Given the description of an element on the screen output the (x, y) to click on. 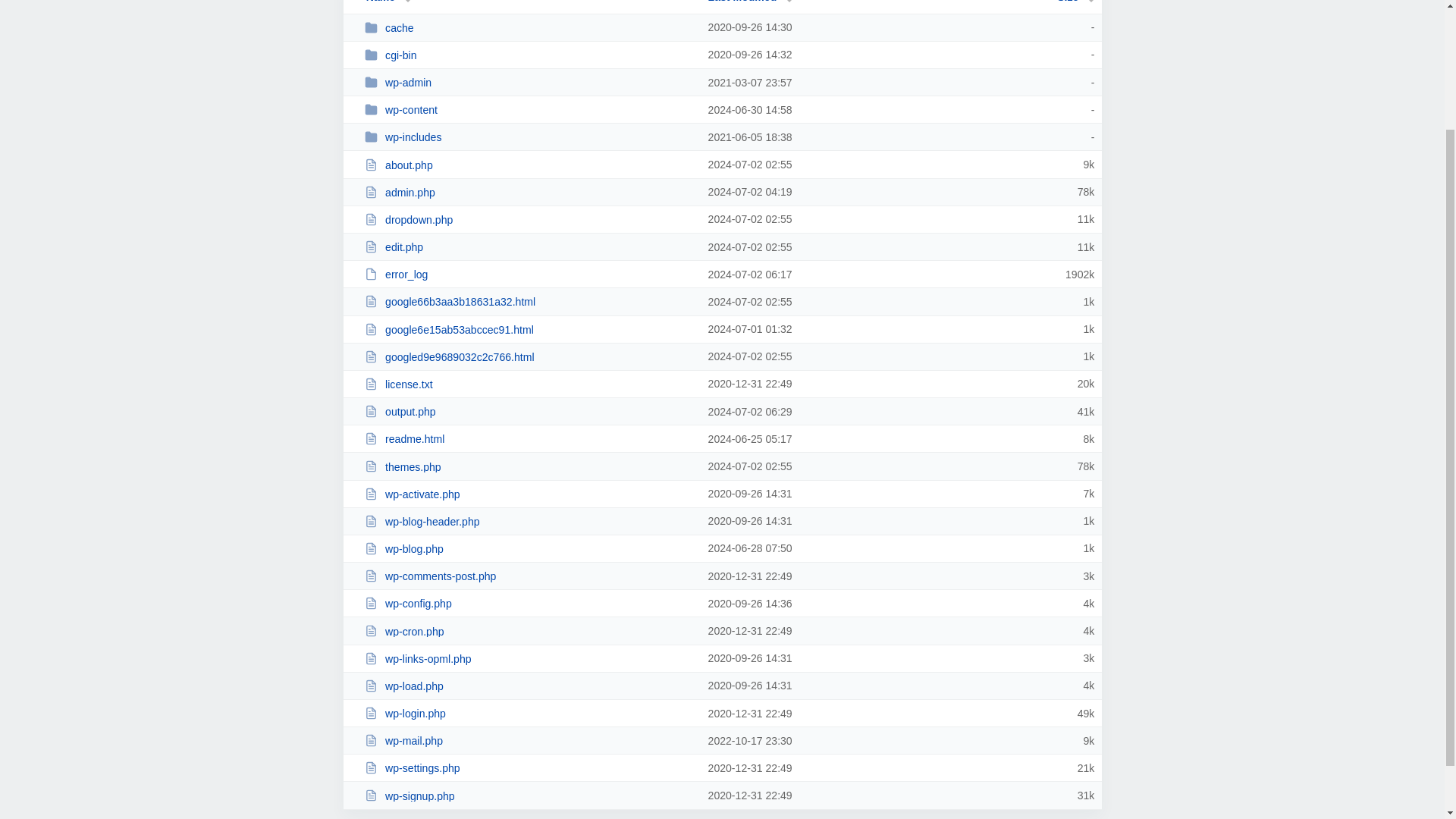
wp-activate.php (529, 493)
wp-includes (529, 136)
dropdown.php (529, 219)
wp-admin (529, 82)
wp-load.php (529, 685)
Size (1075, 1)
wp-blog.php (529, 548)
readme.html (529, 438)
output.php (529, 410)
wp-settings.php (529, 767)
license.txt (529, 383)
googled9e9689032c2c766.html (529, 356)
wp-login.php (529, 712)
cache (529, 27)
wp-signup.php (529, 795)
